Given the description of an element on the screen output the (x, y) to click on. 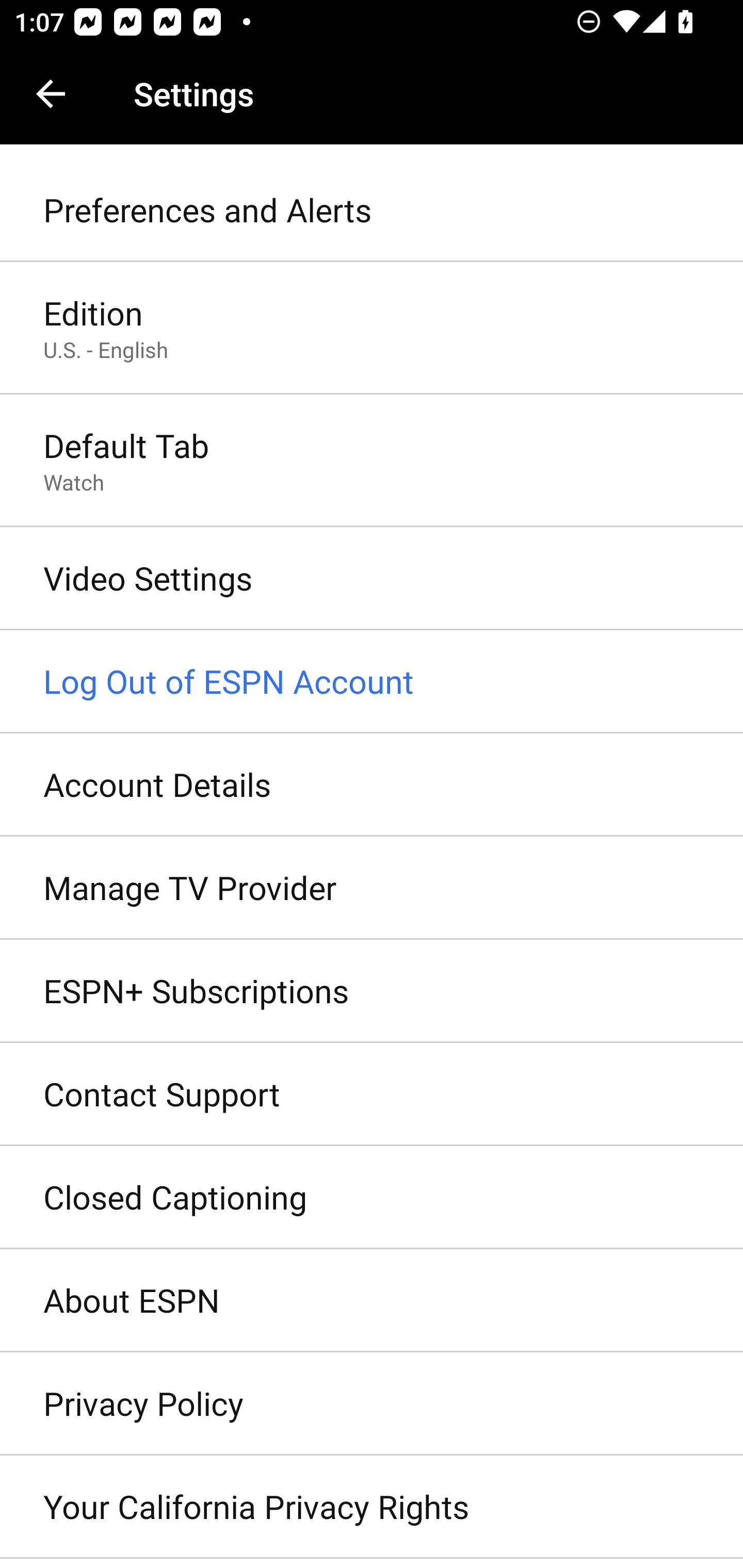
Navigate up (50, 93)
Preferences and Alerts (371, 209)
Edition U.S. - English (371, 328)
Default Tab Watch (371, 461)
Video Settings (371, 578)
Log Out of ESPN Account (371, 681)
Account Details (371, 785)
Manage TV Provider (371, 888)
ESPN+ Subscriptions (371, 990)
Contact Support (371, 1094)
Closed Captioning (371, 1197)
About ESPN (371, 1301)
Privacy Policy (371, 1403)
Your California Privacy Rights (371, 1506)
